Given the description of an element on the screen output the (x, y) to click on. 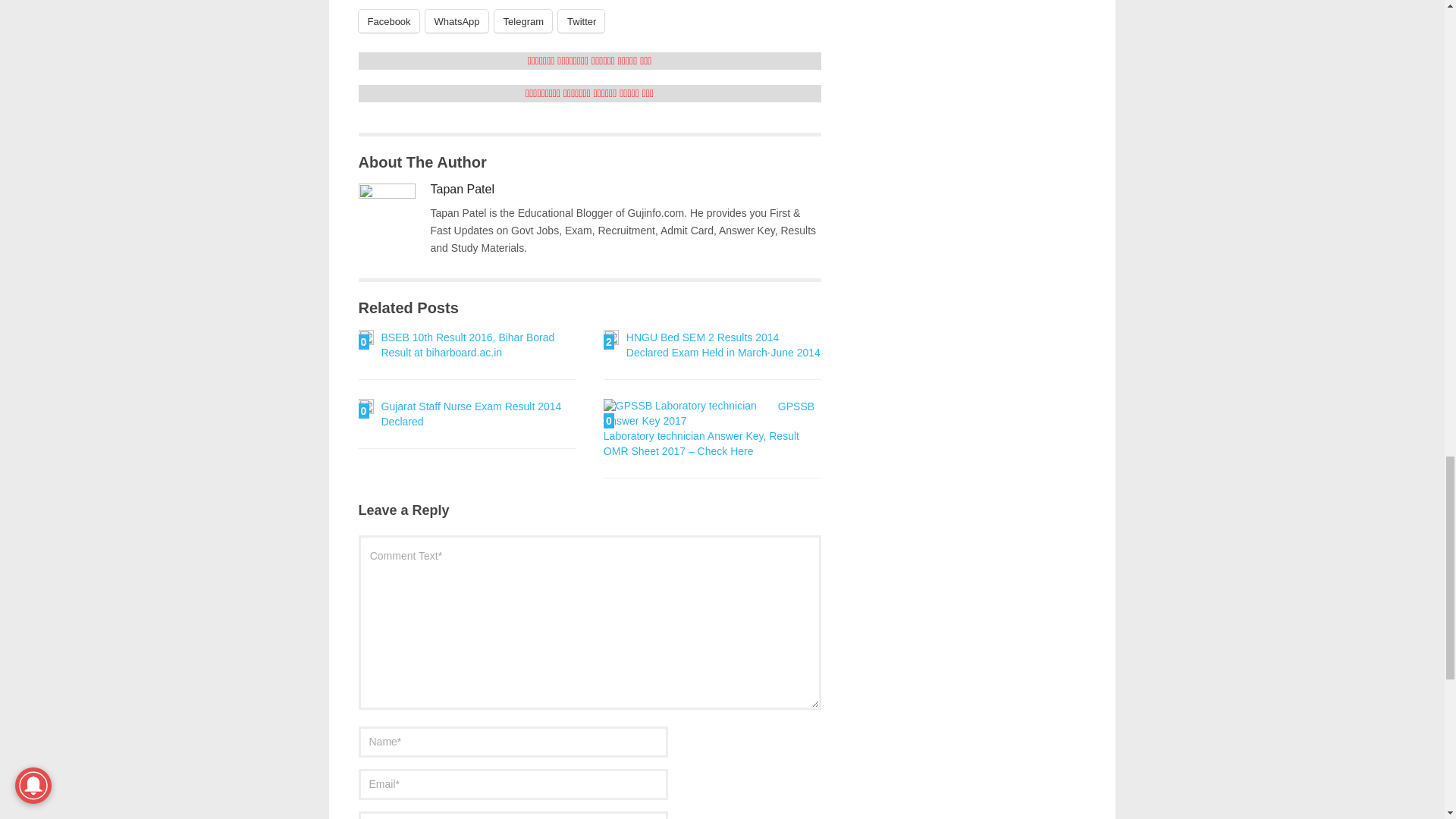
Click to share on WhatsApp (456, 20)
Click to share on Facebook (388, 20)
Click to share on Telegram (523, 20)
Click to share on Twitter (580, 20)
